Given the description of an element on the screen output the (x, y) to click on. 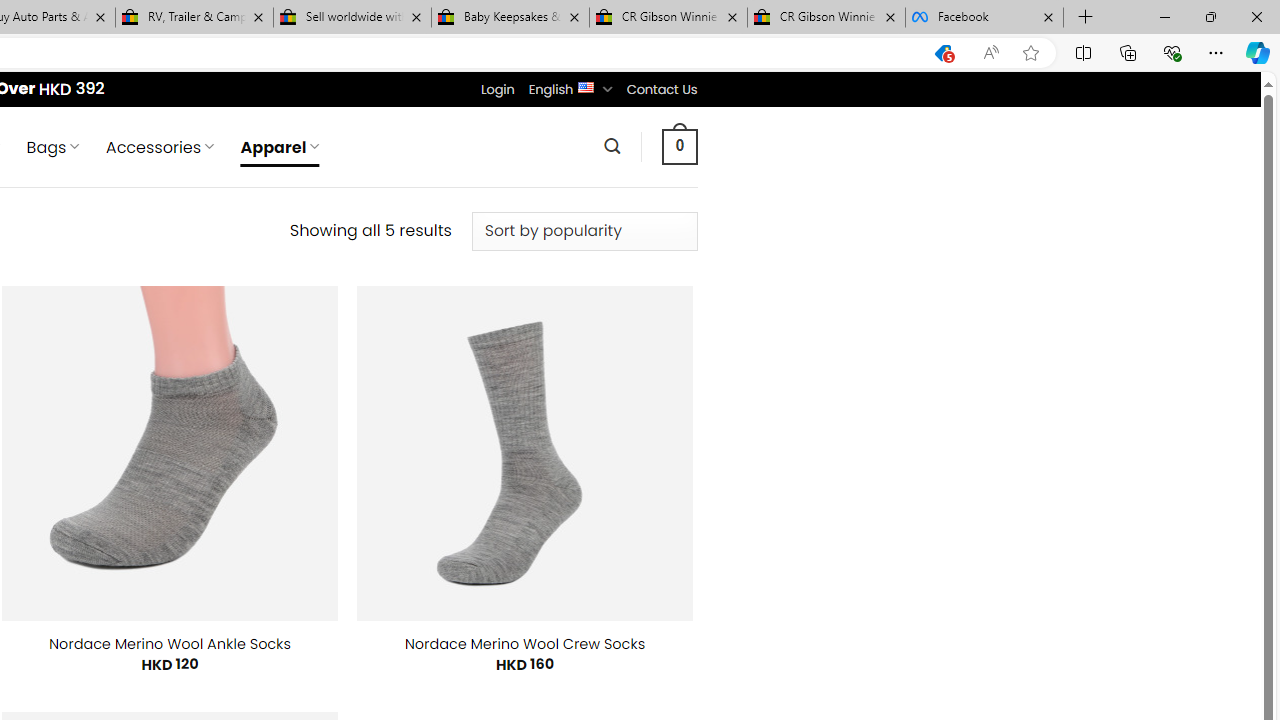
English (586, 86)
Nordace Merino Wool Crew Socks (525, 643)
Login (497, 89)
  0   (679, 146)
Facebook (984, 17)
